Given the description of an element on the screen output the (x, y) to click on. 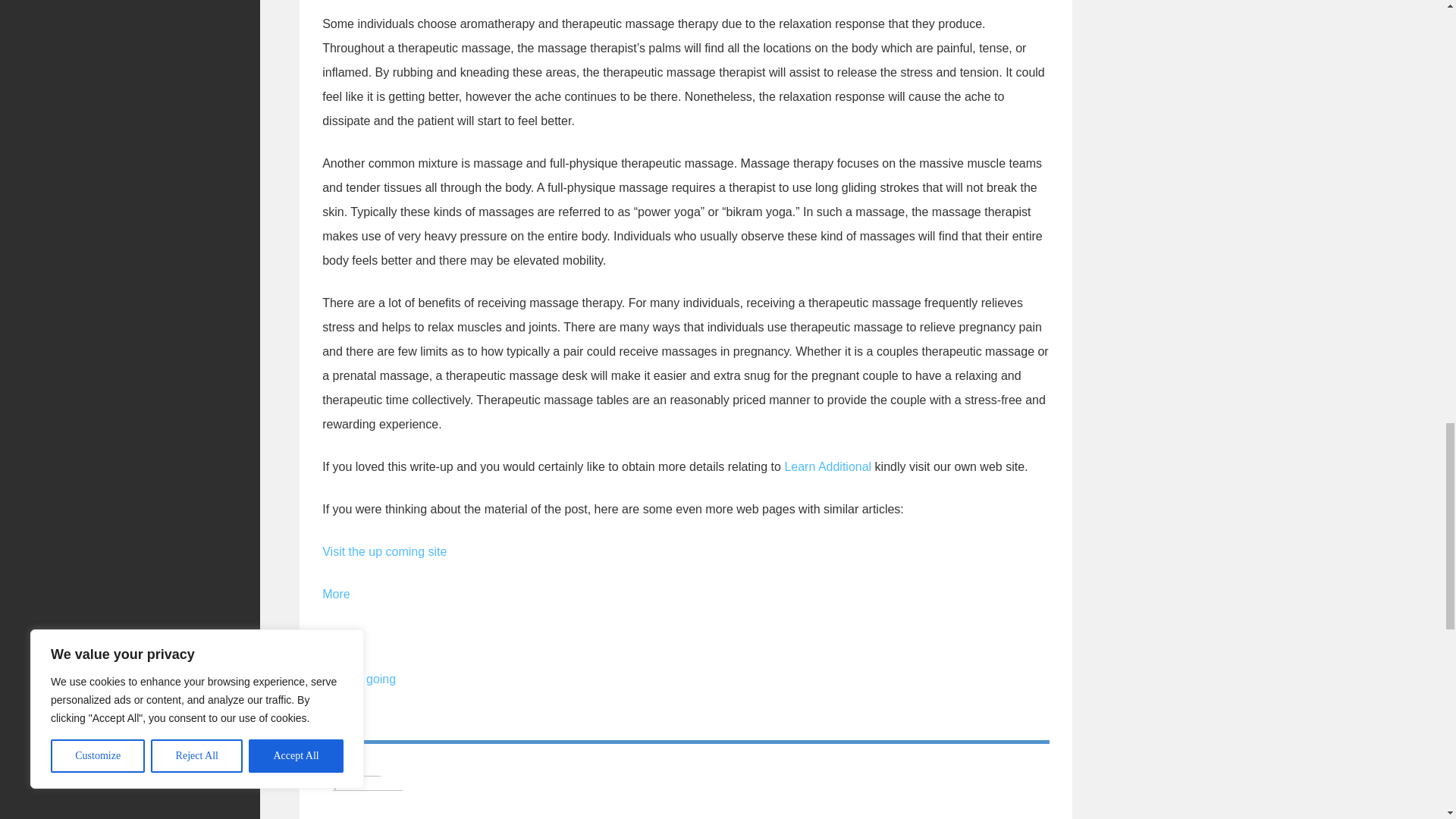
More (335, 594)
Source (341, 635)
had me going (358, 678)
Learn Additional (827, 466)
Visit the up coming site (383, 551)
